Given the description of an element on the screen output the (x, y) to click on. 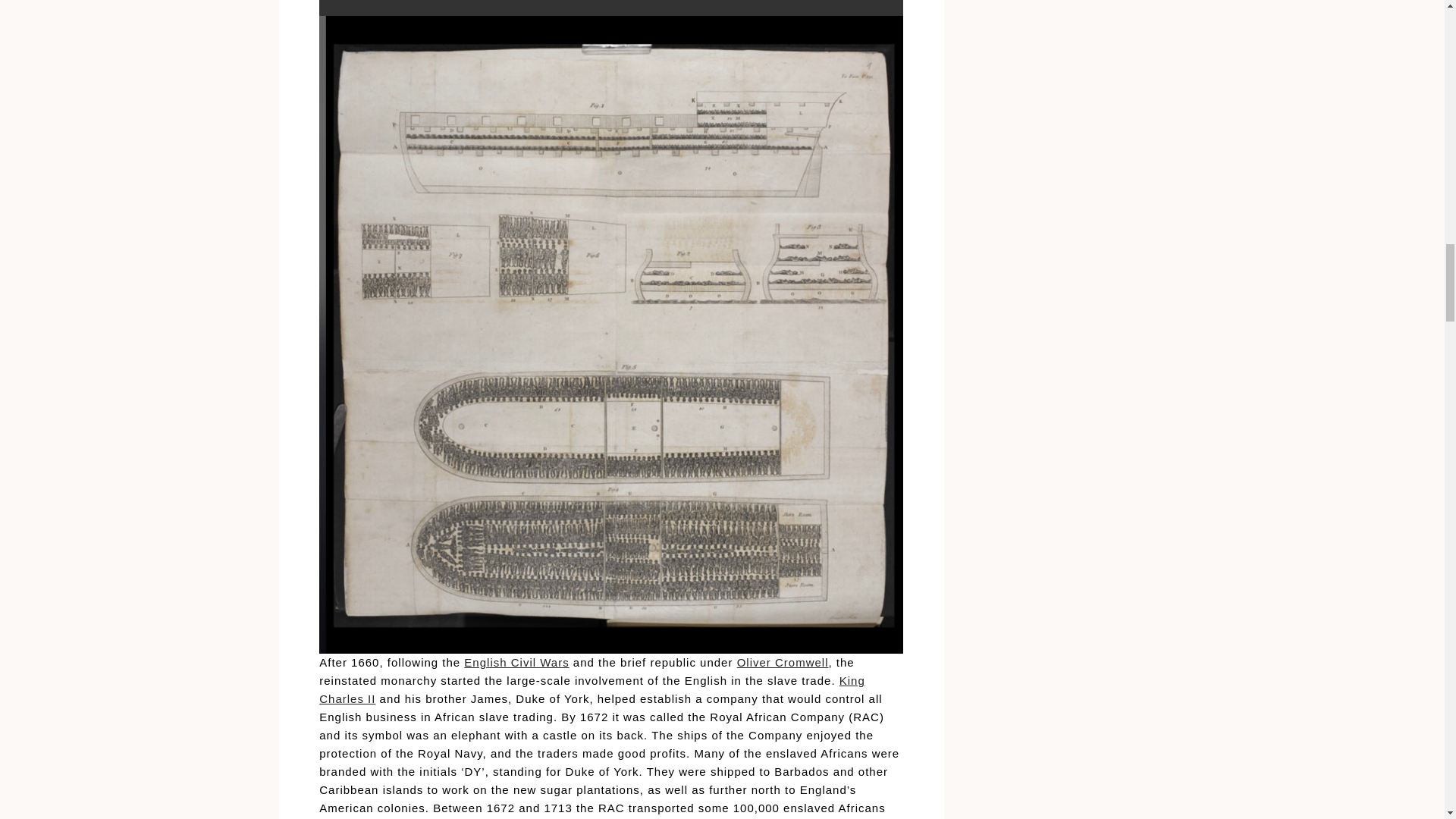
English Civil Wars (516, 662)
Oliver Cromwell (782, 662)
King Charles II (591, 689)
